Given the description of an element on the screen output the (x, y) to click on. 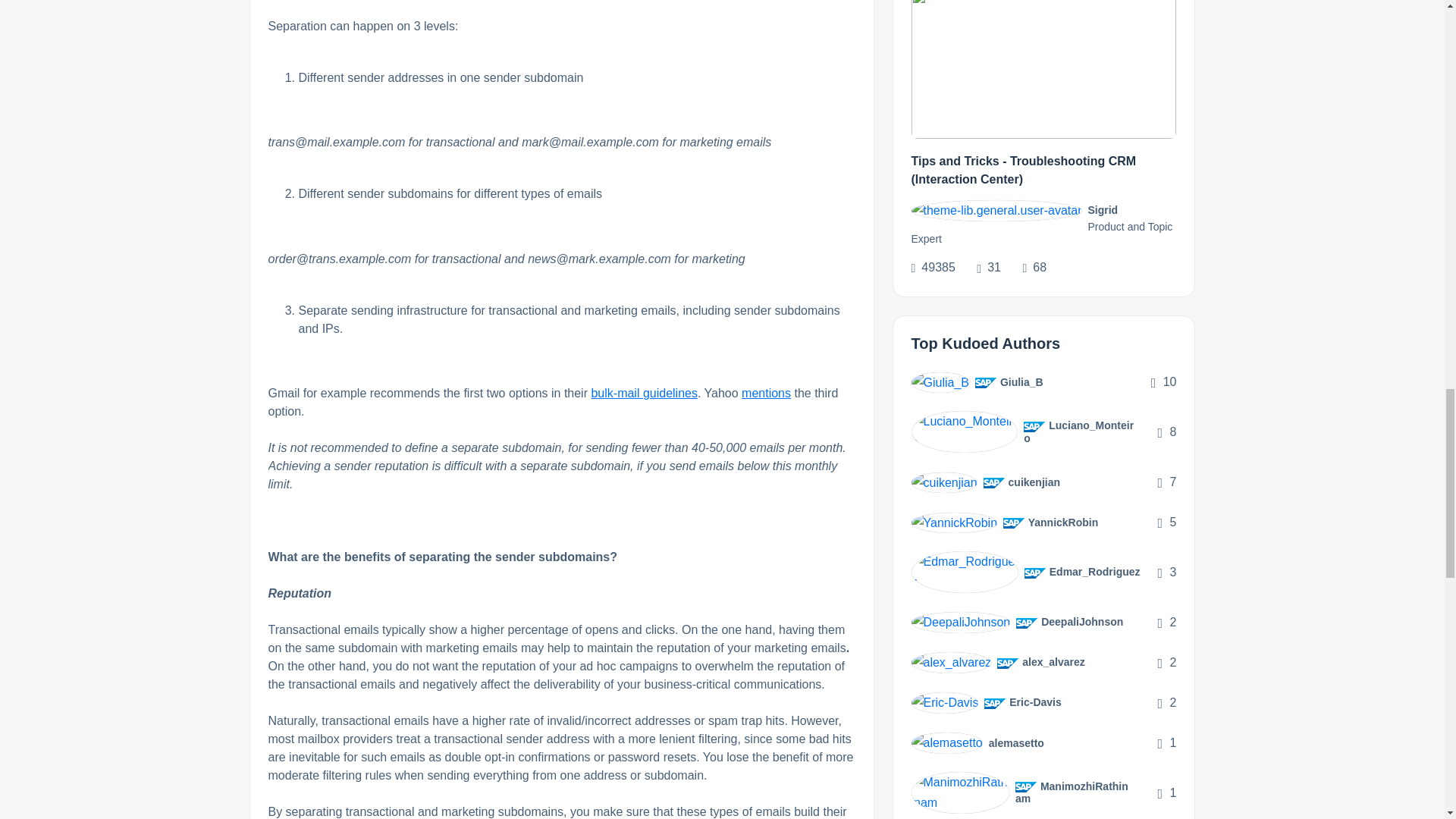
bulk-mail guidelines (644, 392)
mentions (765, 392)
